Given the description of an element on the screen output the (x, y) to click on. 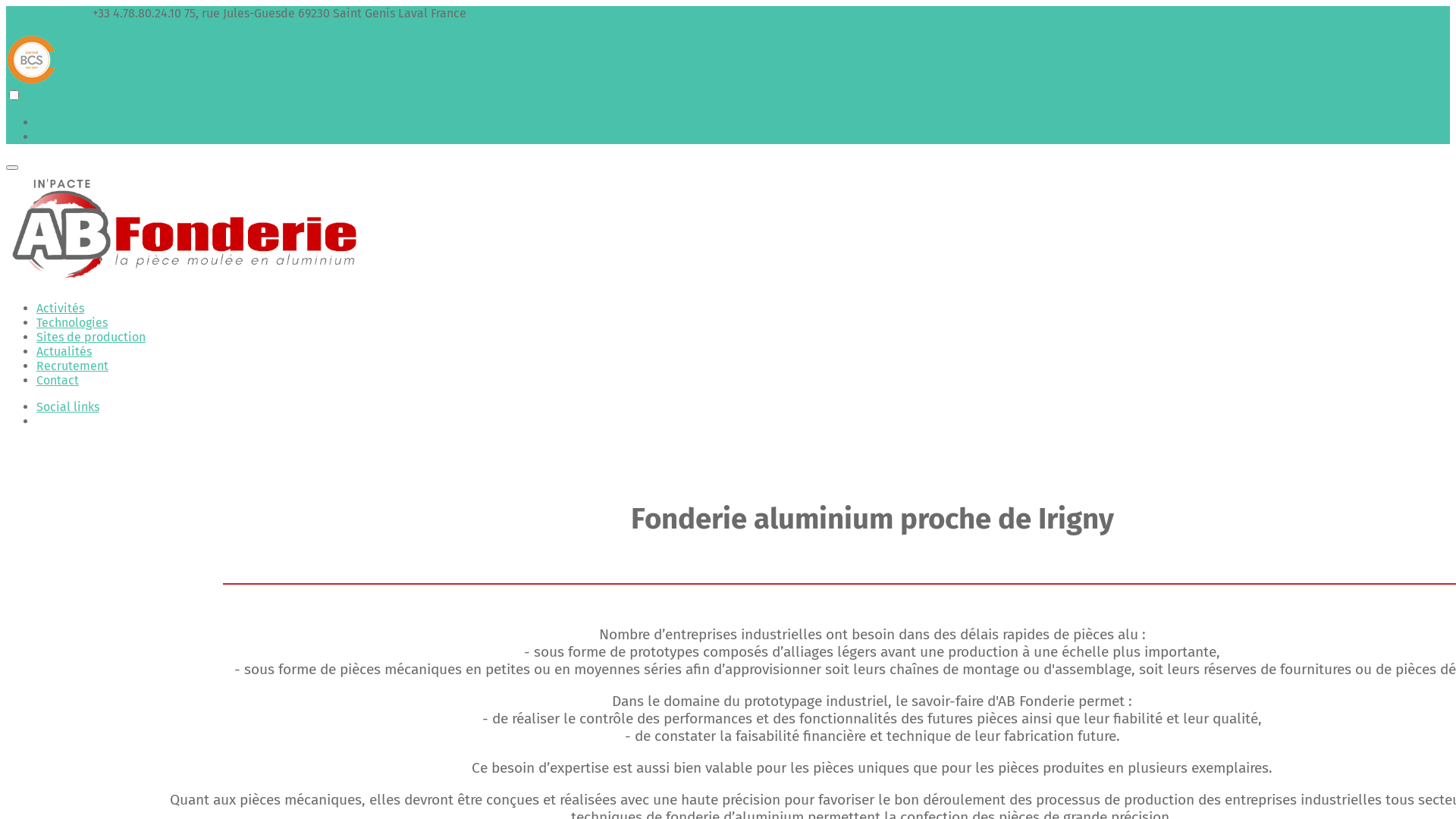
Newsletter Element type: text (35, 27)
Contactez nous Element type: text (49, 13)
Sites de production Element type: text (90, 336)
Contact Element type: text (57, 380)
Social links Element type: text (67, 406)
Recrutement Element type: text (72, 365)
Technologies Element type: text (71, 322)
